Given the description of an element on the screen output the (x, y) to click on. 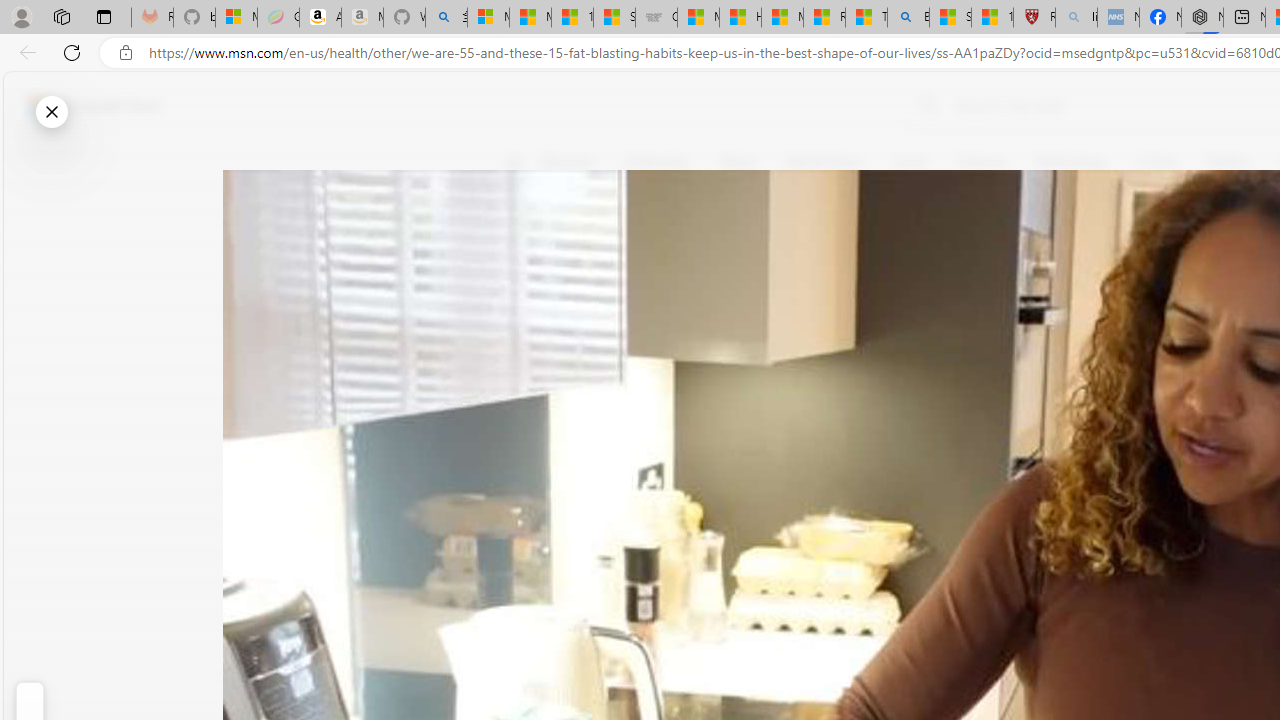
New tab (1243, 17)
How I Got Rid of Microsoft Edge's Unnecessary Features (740, 17)
Back (24, 52)
World News (824, 162)
Microsoft-Report a Concern to Bing (236, 17)
6 (525, 300)
Stocks - MSN (613, 17)
Skip to footer (82, 105)
Politics (1228, 162)
Politics (1227, 162)
Local (909, 162)
Combat Siege (656, 17)
Follow (909, 258)
